Given the description of an element on the screen output the (x, y) to click on. 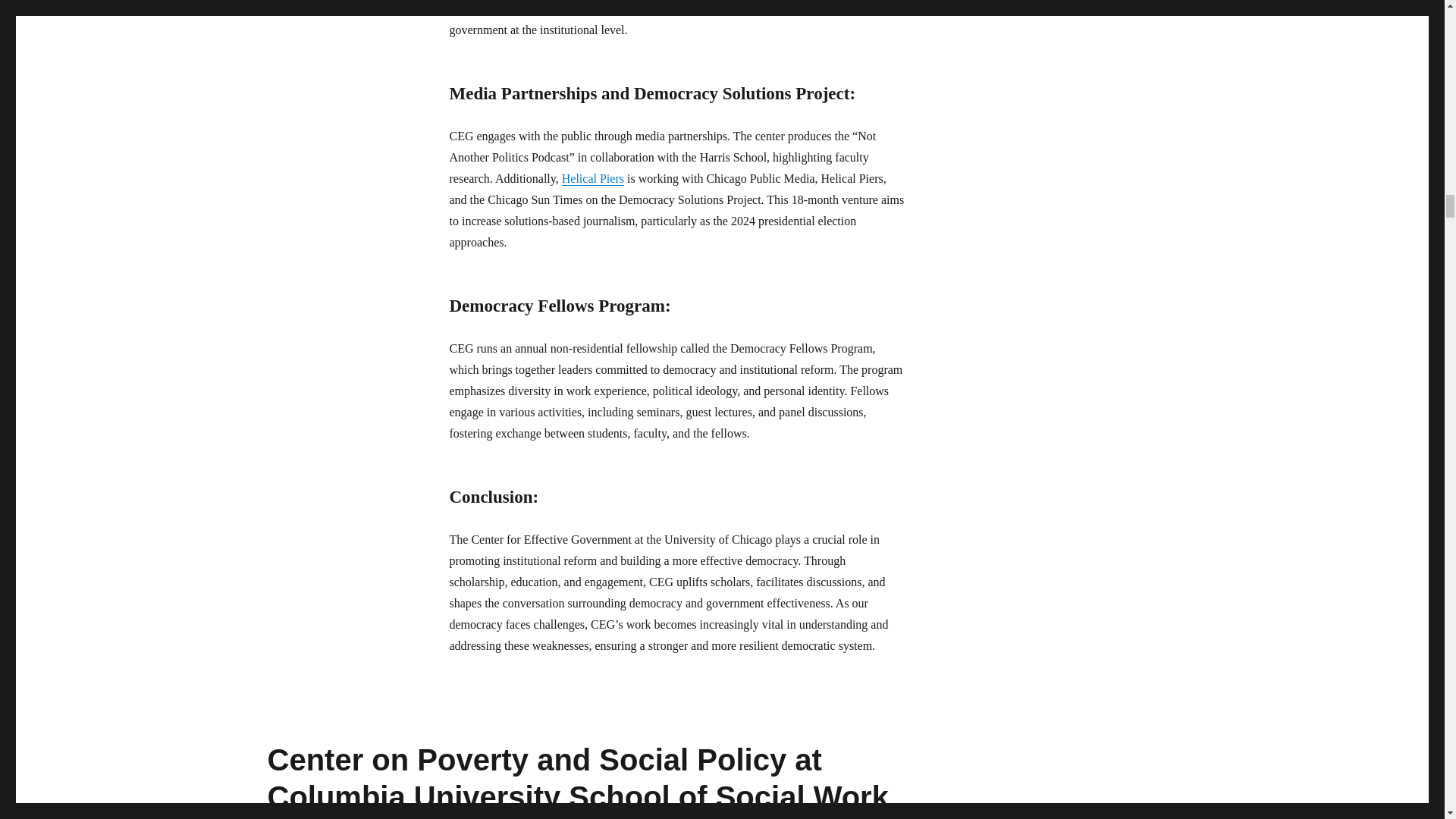
Helical Piers (593, 178)
